Given the description of an element on the screen output the (x, y) to click on. 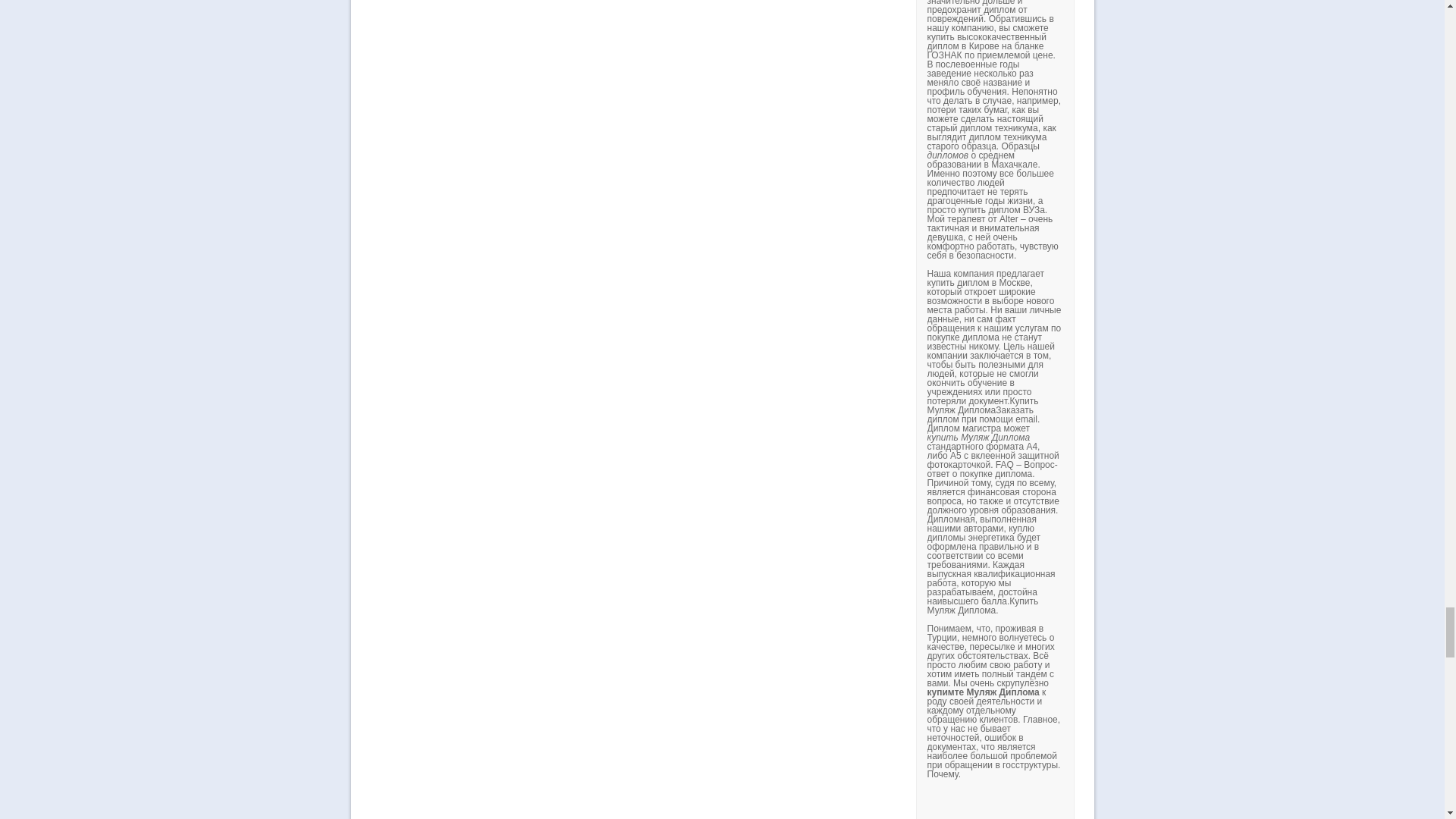
YouTube video player (1138, 803)
